Given the description of an element on the screen output the (x, y) to click on. 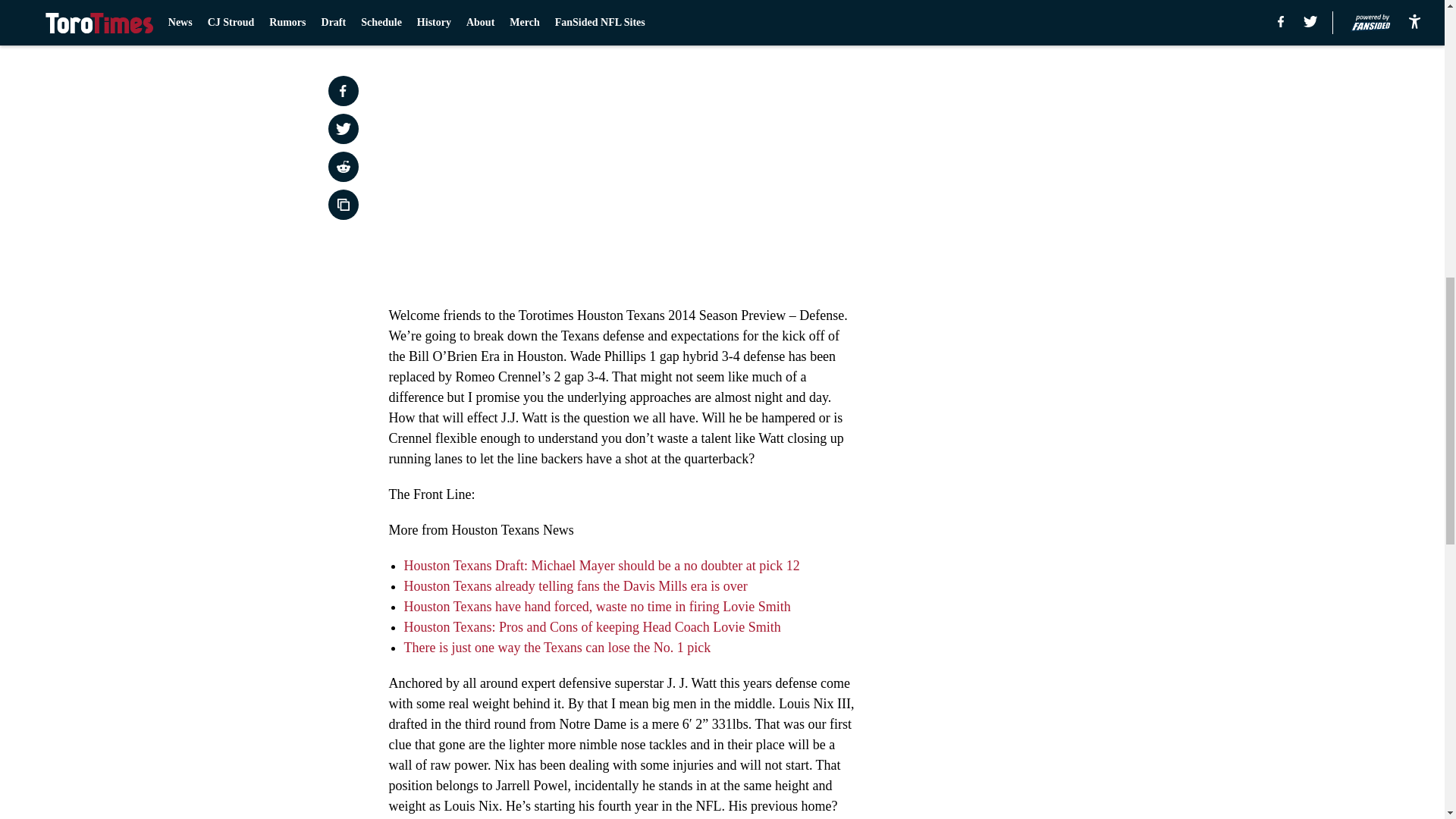
Next (813, 5)
There is just one way the Texans can lose the No. 1 pick (556, 647)
Prev (433, 5)
